Given the description of an element on the screen output the (x, y) to click on. 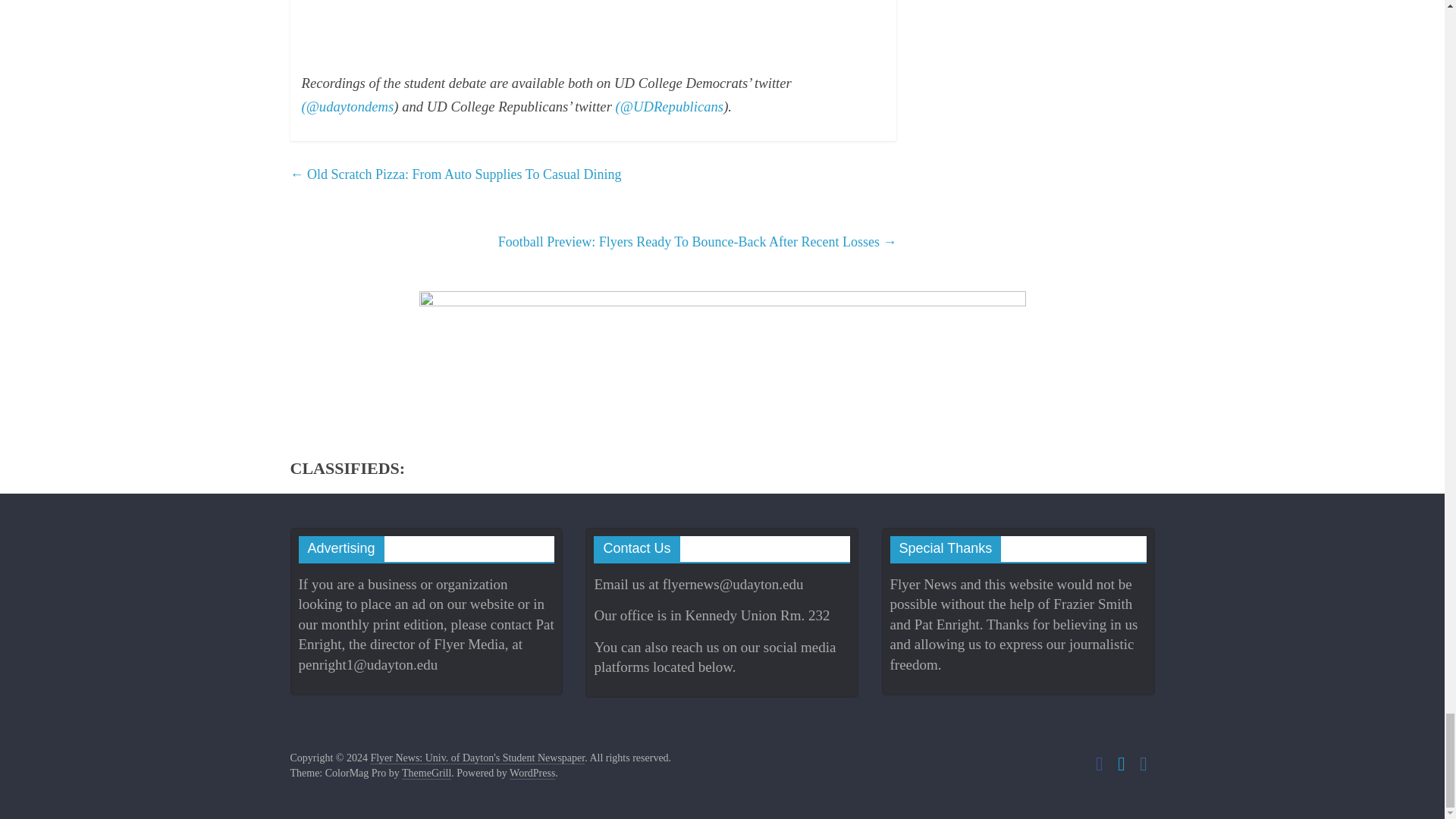
ThemeGrill (426, 773)
Flyer News: Univ. of Dayton's Student Newspaper (477, 758)
WordPress (531, 773)
